Given the description of an element on the screen output the (x, y) to click on. 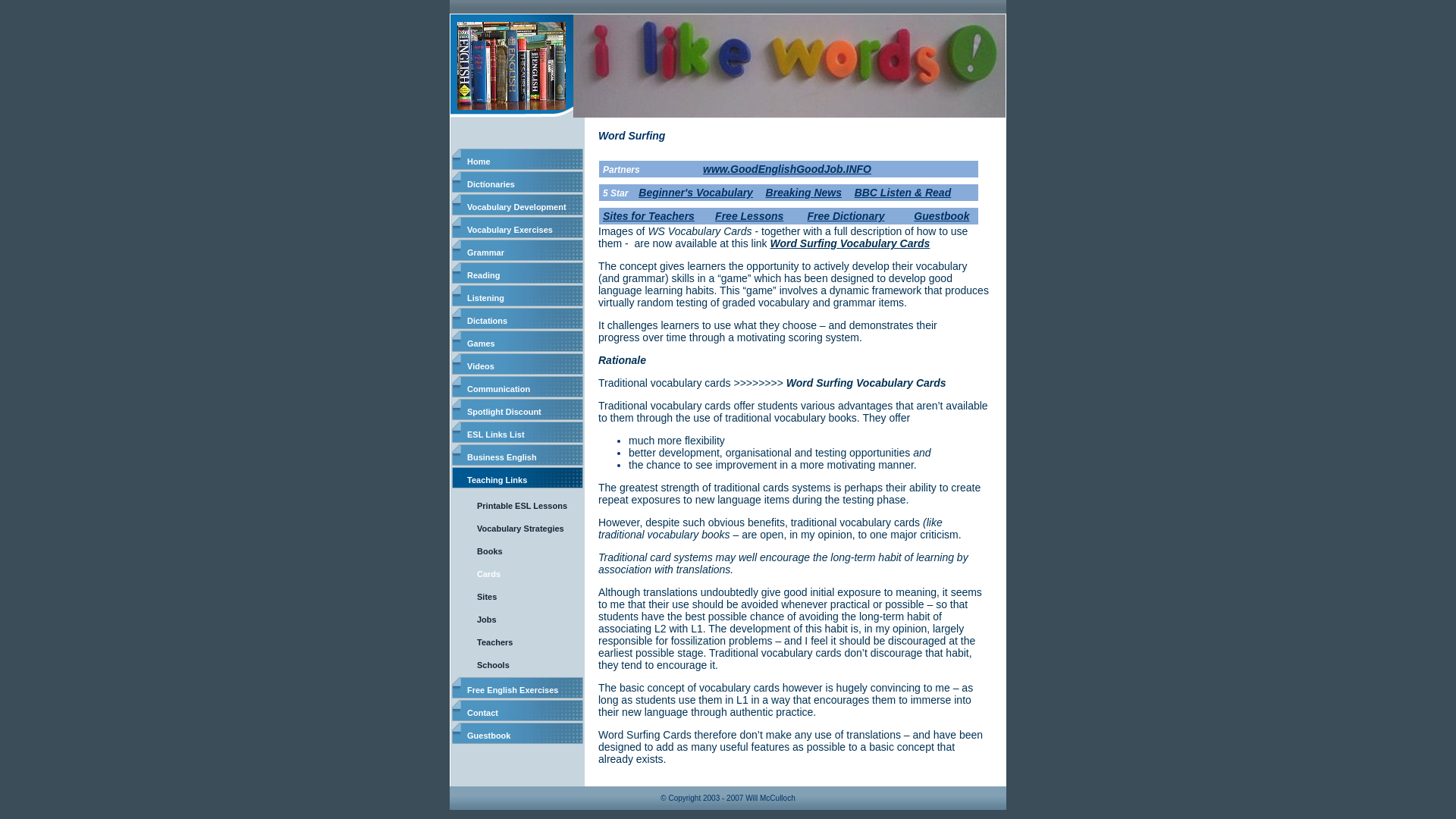
Videos (517, 363)
Schools (520, 662)
Home (517, 158)
Games (517, 341)
Vocabulary Strategies (520, 526)
Books (520, 548)
Beginner's Vocabulary (695, 192)
ESL Links List (517, 432)
Vocabulary Development (517, 204)
Vocabulary Exercises (517, 227)
